Given the description of an element on the screen output the (x, y) to click on. 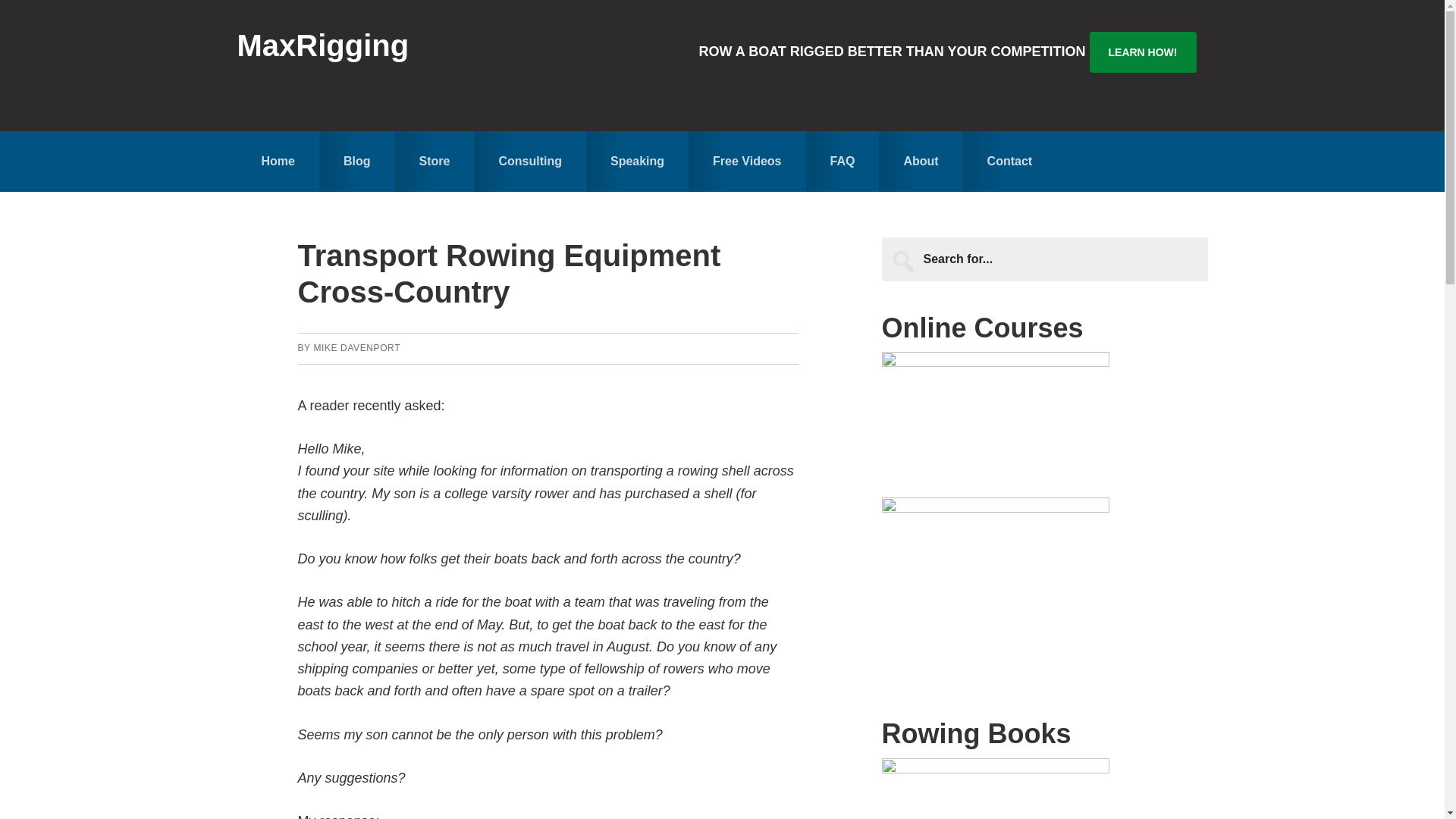
FAQ (842, 161)
MIKE DAVENPORT (356, 347)
About (920, 161)
Contact (1009, 161)
LEARN HOW! (1142, 51)
Speaking (637, 161)
Consulting (530, 161)
Blog (356, 161)
Store (434, 161)
Home (276, 161)
Free Videos (746, 161)
